Given the description of an element on the screen output the (x, y) to click on. 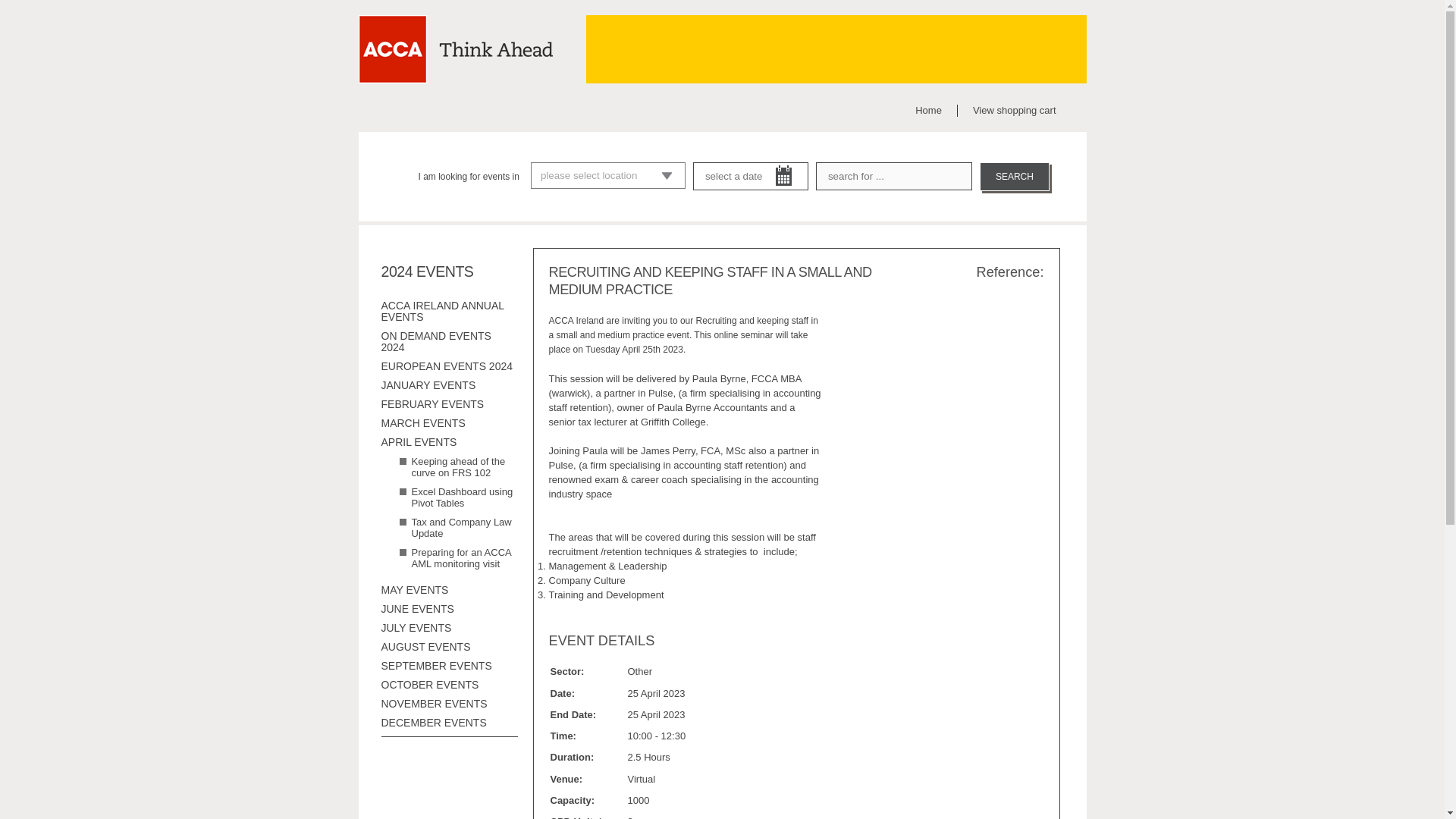
Search (1014, 176)
Search (1014, 176)
Excel Dashboard using Pivot Tables (461, 497)
Preparing for an ACCA AML monitoring visit (460, 558)
FEBRUARY EVENTS (431, 404)
SEPTEMBER EVENTS (436, 665)
JANUARY EVENTS (428, 385)
JUNE EVENTS (416, 608)
Tax and Company Law Update (460, 527)
JULY EVENTS (415, 627)
ON DEMAND EVENTS 2024 (435, 341)
Search (1014, 176)
MARCH EVENTS (422, 422)
OCTOBER EVENTS (429, 684)
AUGUST EVENTS (425, 646)
